Given the description of an element on the screen output the (x, y) to click on. 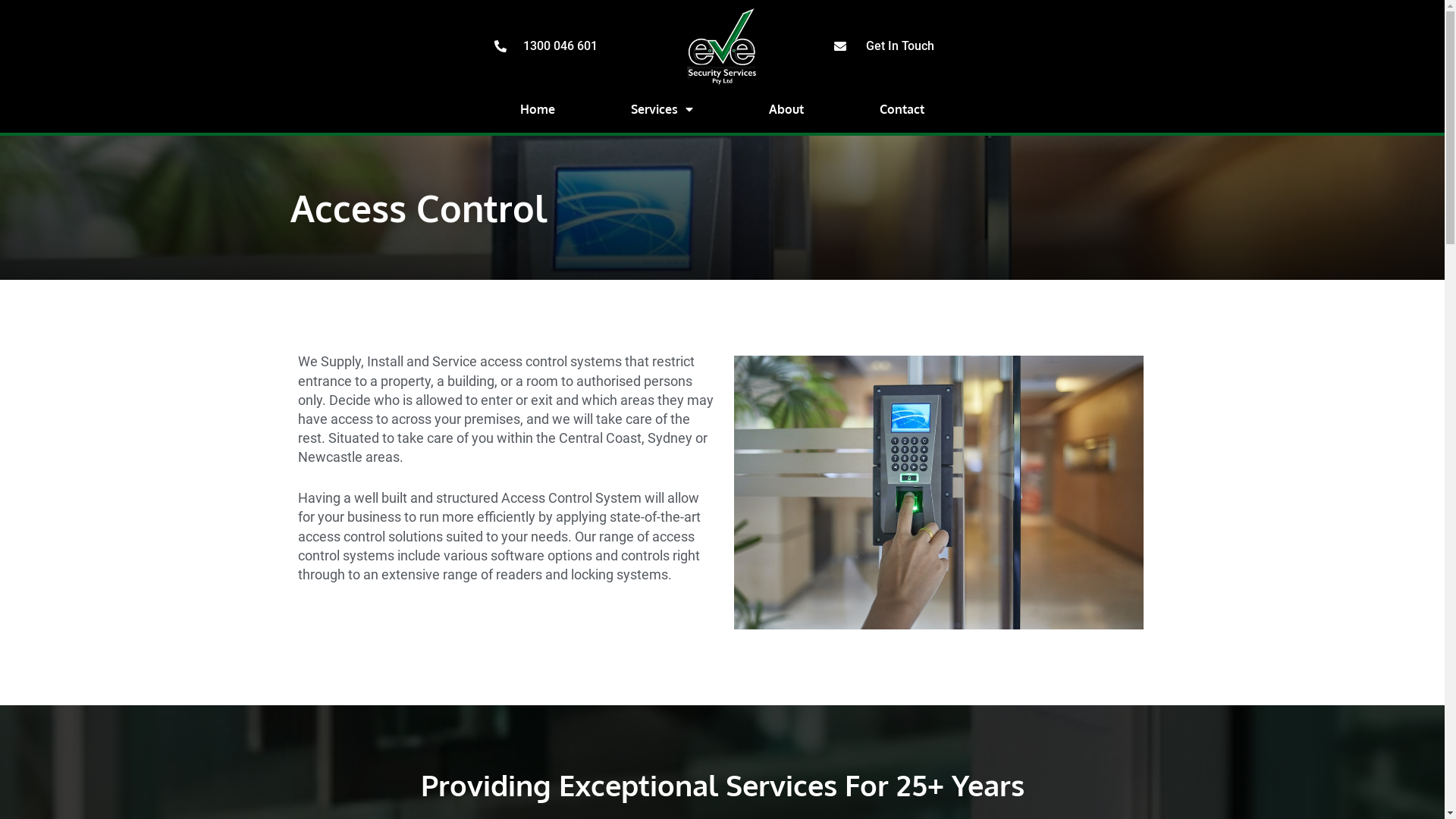
1300 046 601 Element type: text (552, 46)
Home Element type: text (537, 109)
Services Element type: text (662, 109)
About Element type: text (786, 109)
Get In Touch Element type: text (892, 46)
Contact Element type: text (901, 109)
